Given the description of an element on the screen output the (x, y) to click on. 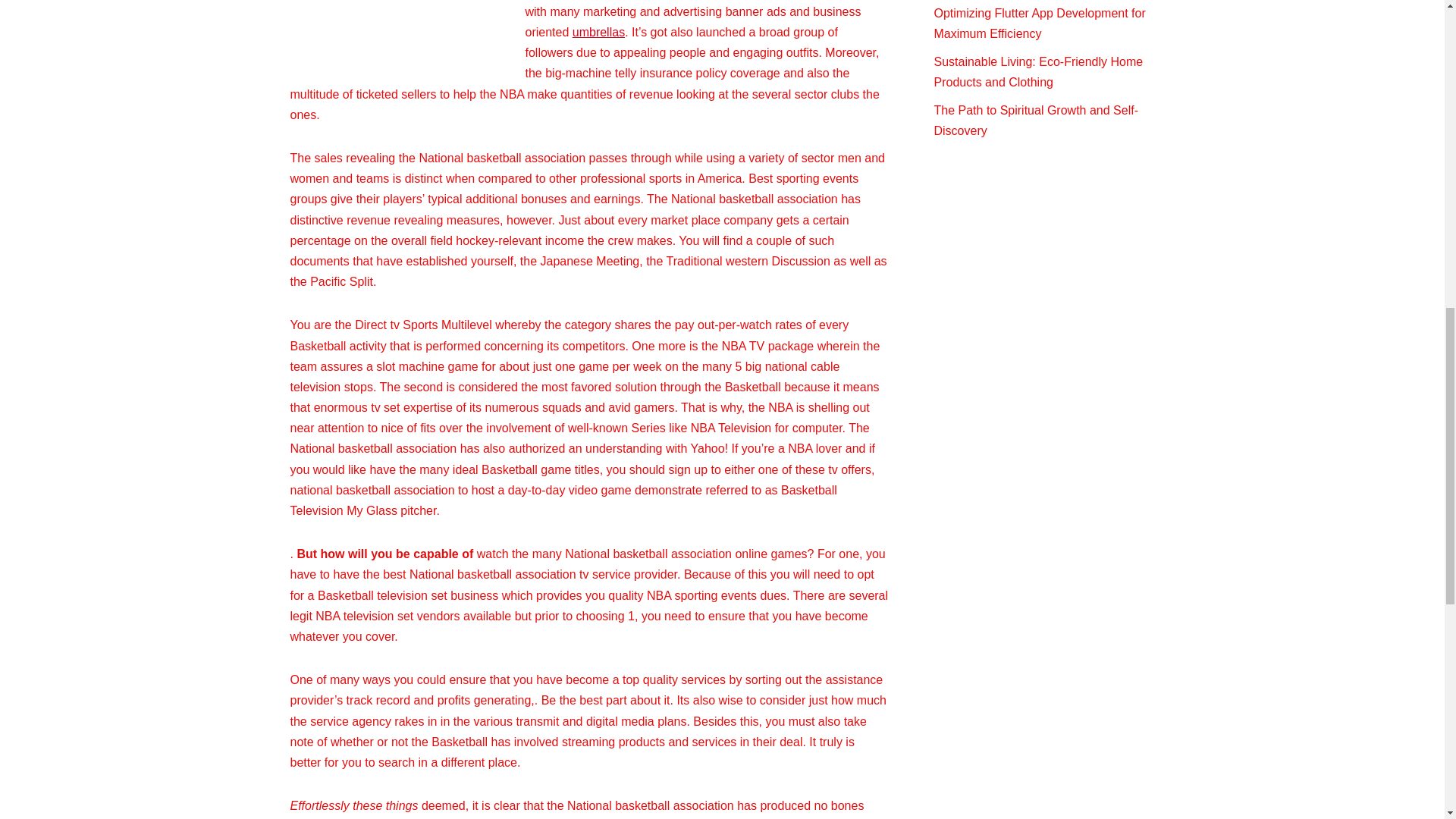
umbrellas (598, 31)
Optimizing Flutter App Development for Maximum Efficiency (1039, 23)
The Path to Spiritual Growth and Self-Discovery (1036, 120)
Sustainable Living: Eco-Friendly Home Products and Clothing (1038, 71)
